Given the description of an element on the screen output the (x, y) to click on. 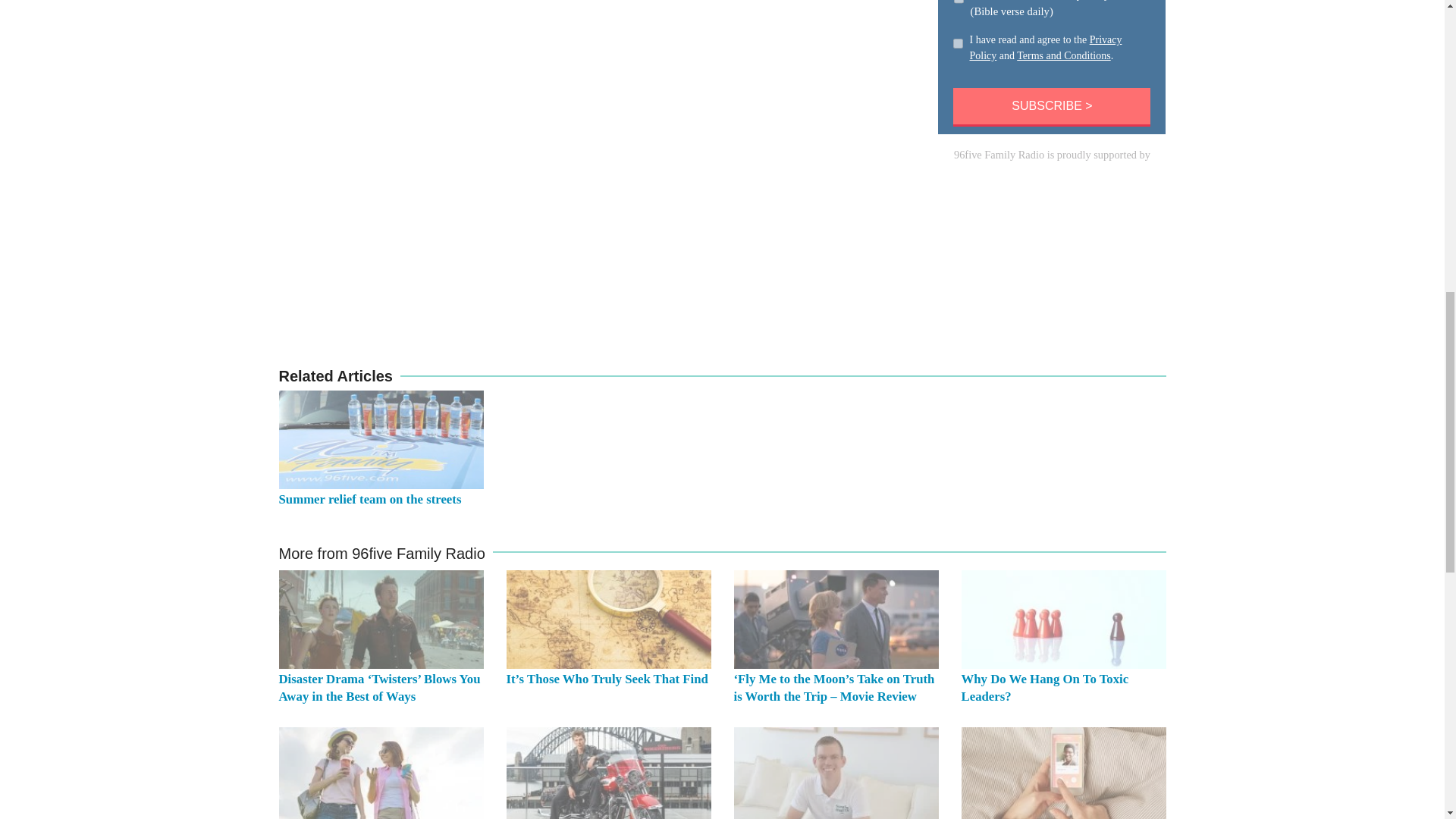
3rd party ad content (1051, 257)
Why Do We Hang On To Toxic Leaders? (1063, 619)
Summer relief team on the streets (370, 499)
Why Do We Hang On To Toxic Leaders? (1044, 687)
dailyverse (958, 3)
1 (957, 43)
Summer relief team on the streets (381, 439)
